Given the description of an element on the screen output the (x, y) to click on. 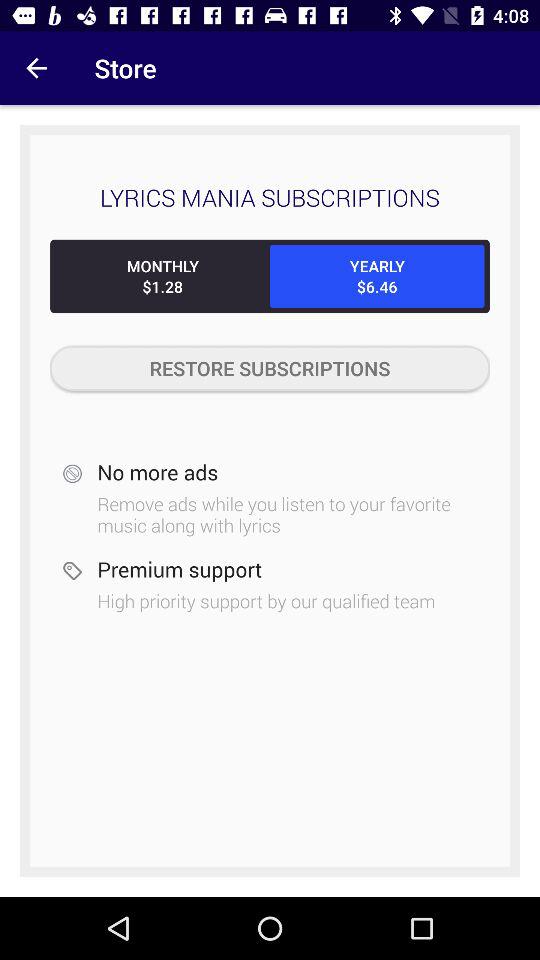
click on grey button (269, 367)
